Given the description of an element on the screen output the (x, y) to click on. 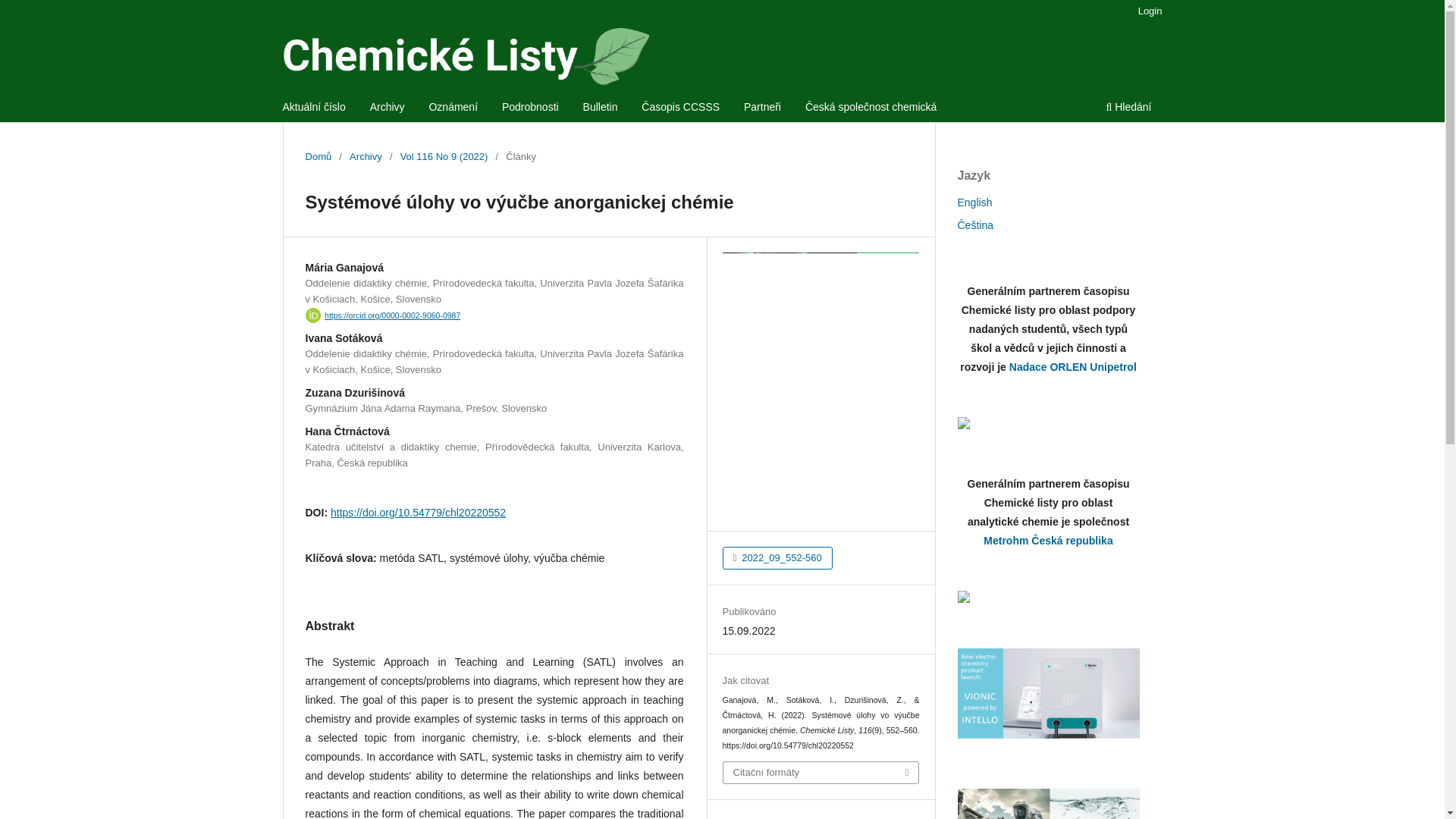
Login (1150, 11)
Podrobnosti (530, 108)
Bulletin (600, 108)
Archivy (387, 108)
Nadace ORLEN Unipetrol (1047, 422)
Nadace ORLEN Unipetrol (1073, 367)
Archivy (365, 156)
